Given the description of an element on the screen output the (x, y) to click on. 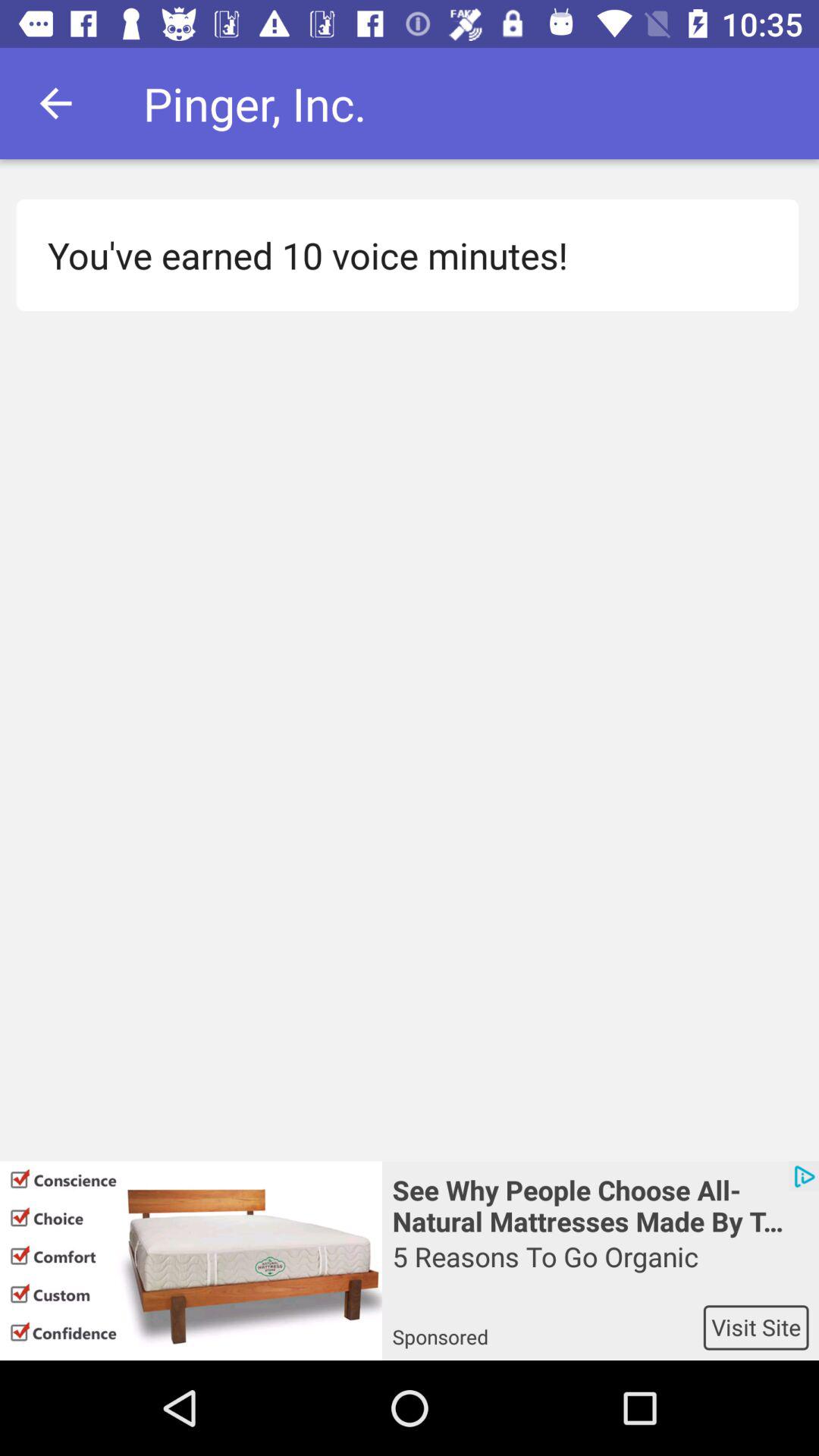
turn on the item below the you ve earned item (600, 1204)
